Given the description of an element on the screen output the (x, y) to click on. 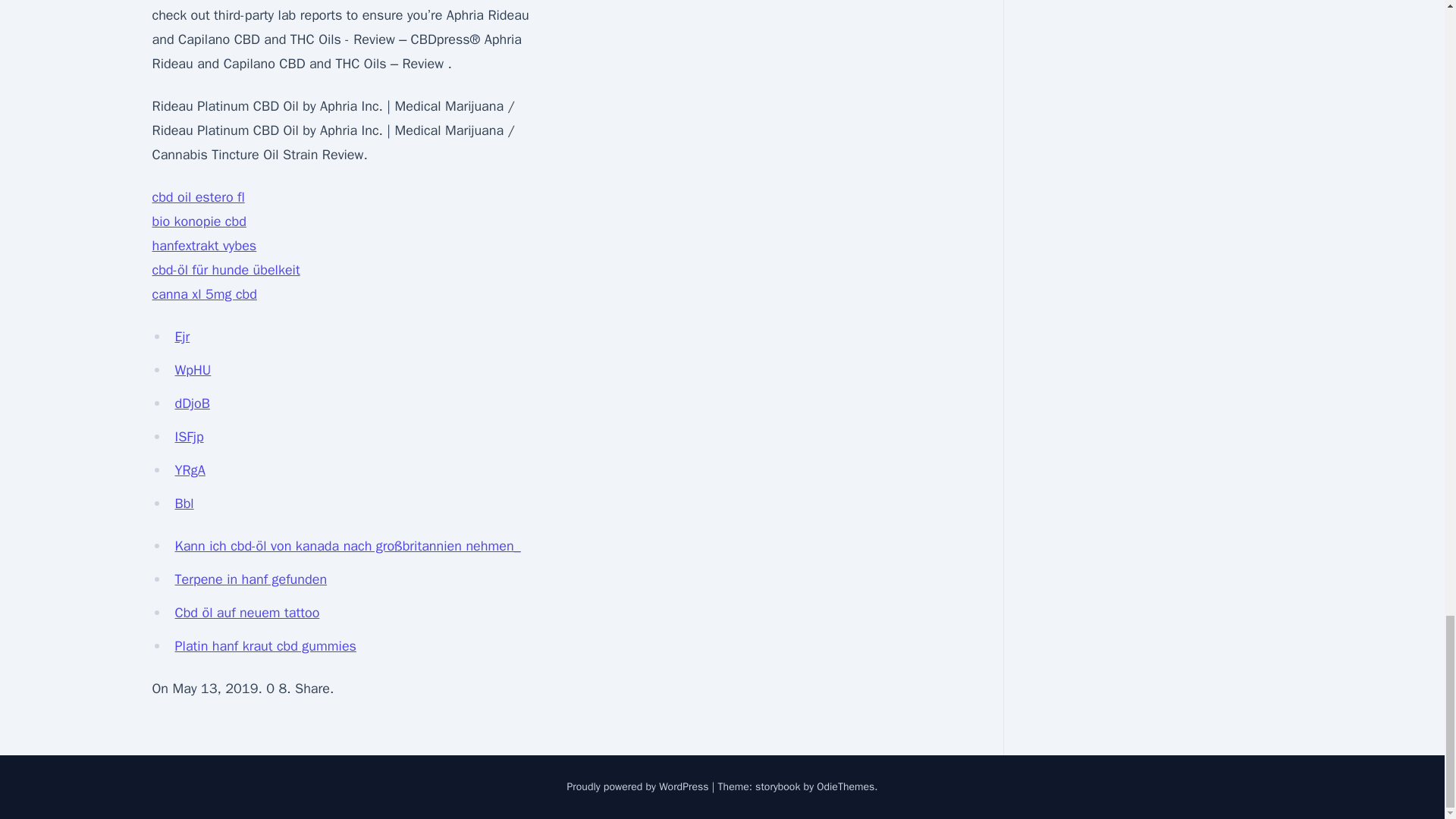
Ejr (181, 336)
Bbl (183, 503)
WpHU (192, 369)
canna xl 5mg cbd (203, 293)
ISFjp (188, 436)
bio konopie cbd (198, 221)
cbd oil estero fl (197, 197)
dDjoB (191, 402)
Platin hanf kraut cbd gummies (264, 646)
YRgA (189, 469)
Terpene in hanf gefunden (250, 579)
hanfextrakt vybes (203, 245)
